Given the description of an element on the screen output the (x, y) to click on. 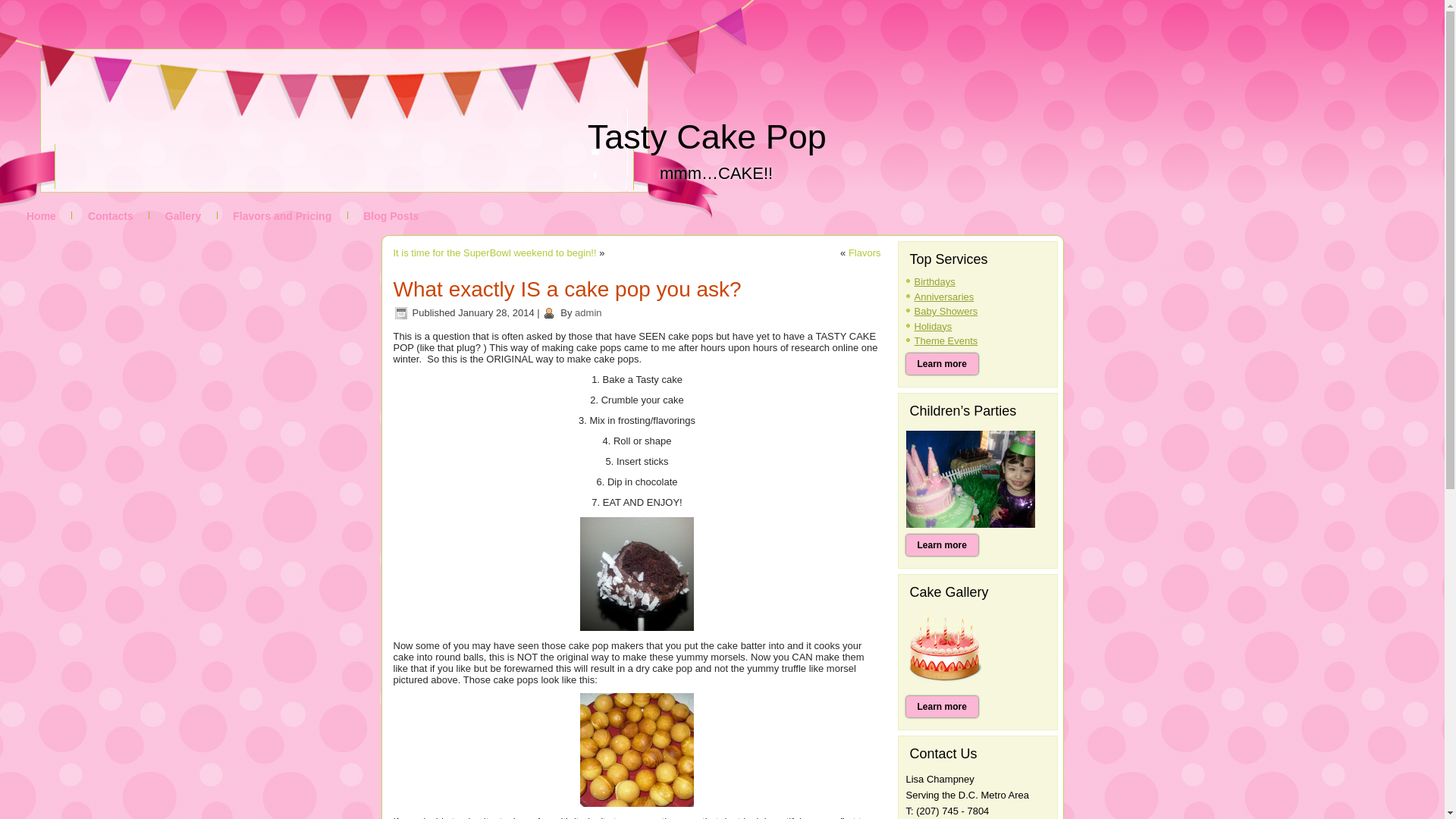
Home (40, 216)
Blog Posts (390, 216)
8:22 am (496, 312)
Flavors and Pricing (281, 216)
Flavors (864, 252)
Gallery (183, 216)
View all posts by admin (588, 312)
Tasty Cake Pop (707, 136)
Gallery (183, 216)
It is time for the SuperBowl weekend to begin!! (494, 252)
Flavors and Pricing (281, 216)
Home (40, 216)
Contacts (110, 216)
Blog Posts (390, 216)
It is time for the SuperBowl weekend to begin!! (494, 252)
